Given the description of an element on the screen output the (x, y) to click on. 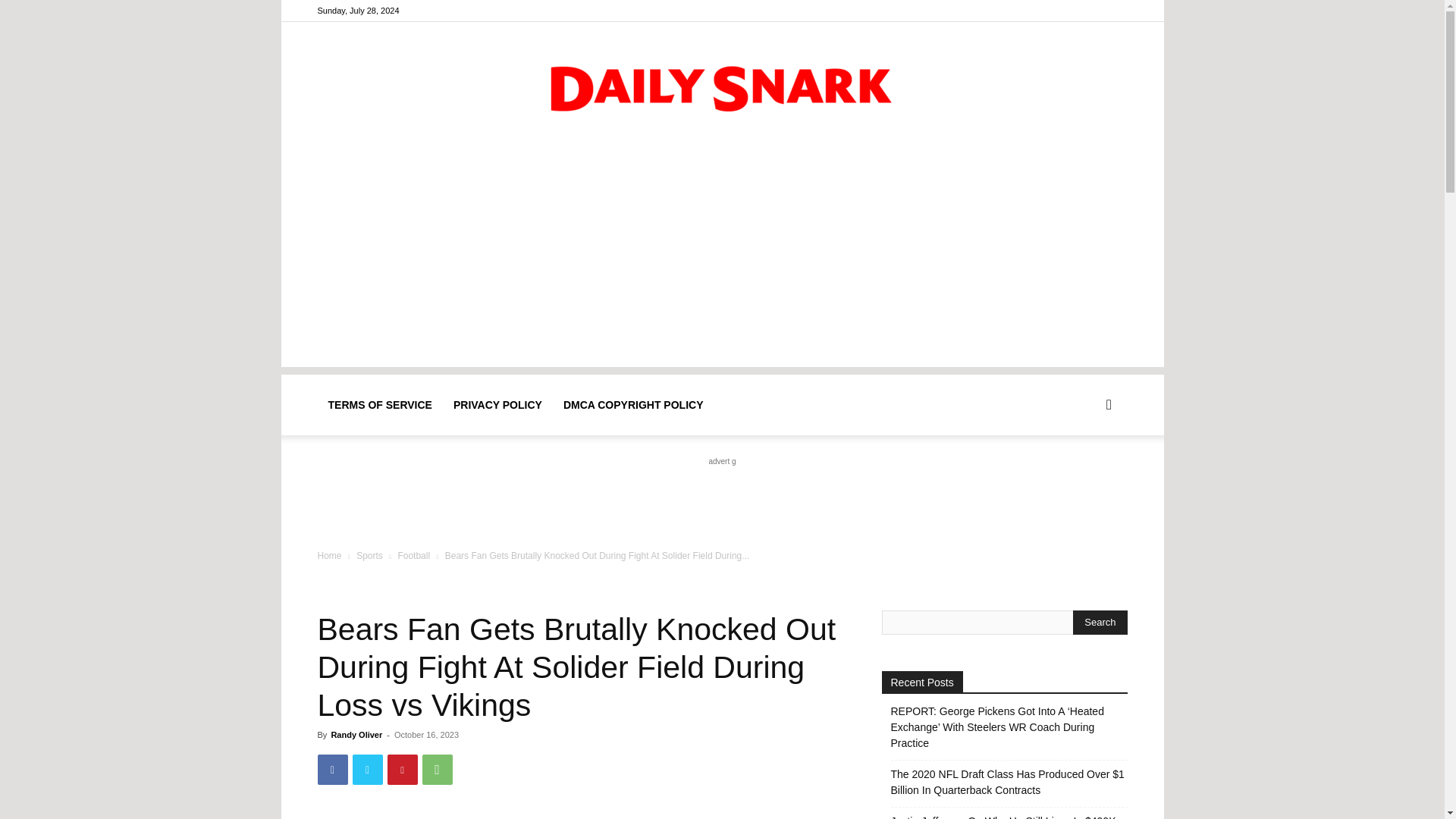
Home (328, 555)
View all posts in Sports (369, 555)
Facebook (332, 769)
Search (1099, 622)
Search (1085, 477)
PRIVACY POLICY (497, 404)
Football (413, 555)
Facebook (1090, 10)
Sports (369, 555)
View all posts in Football (413, 555)
DMCA COPYRIGHT POLICY (633, 404)
Pinterest (401, 769)
Daily Snark (721, 84)
Twitter (366, 769)
